Given the description of an element on the screen output the (x, y) to click on. 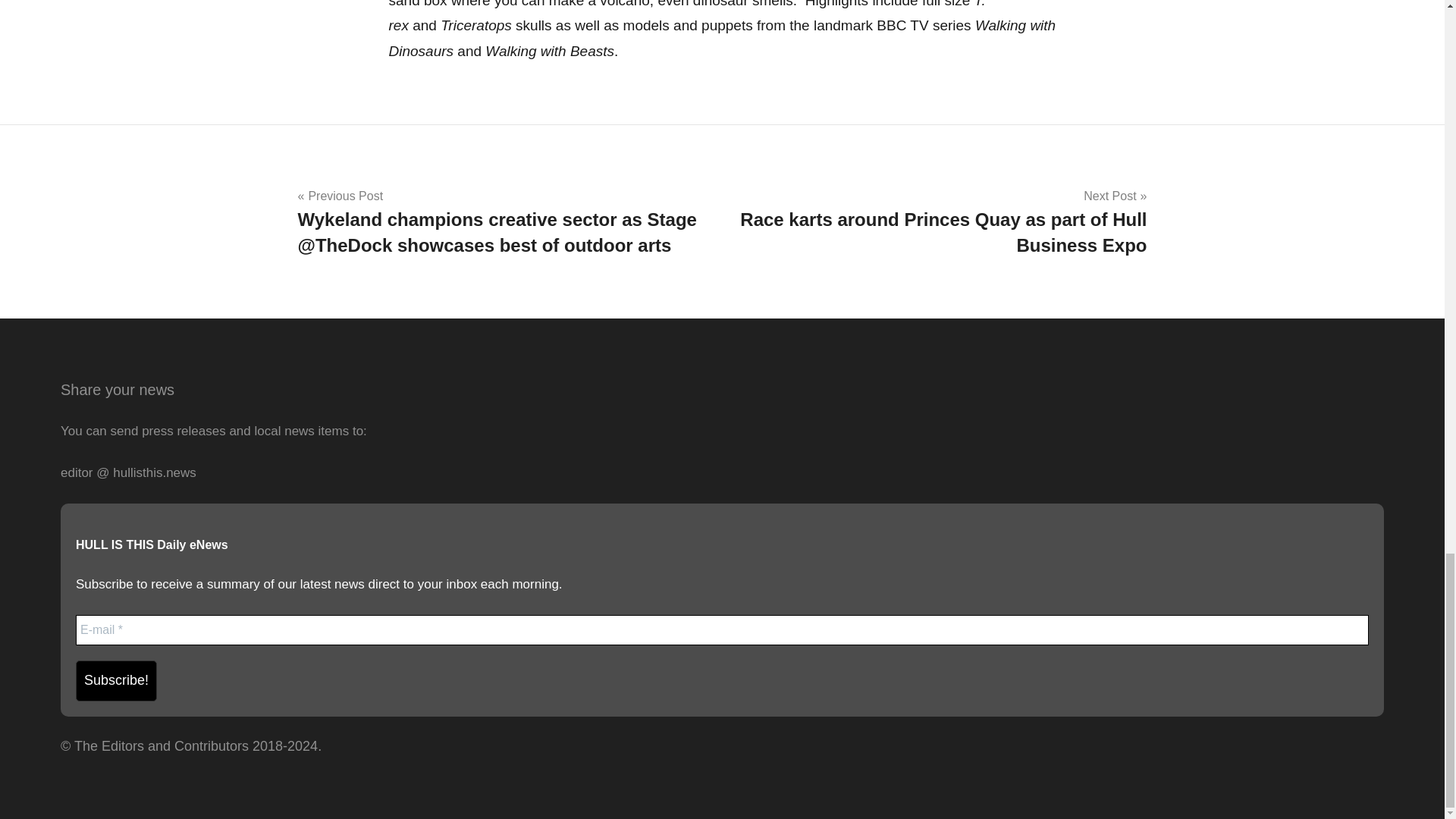
Subscribe! (116, 680)
E-mail (721, 630)
Subscribe! (116, 680)
